Given the description of an element on the screen output the (x, y) to click on. 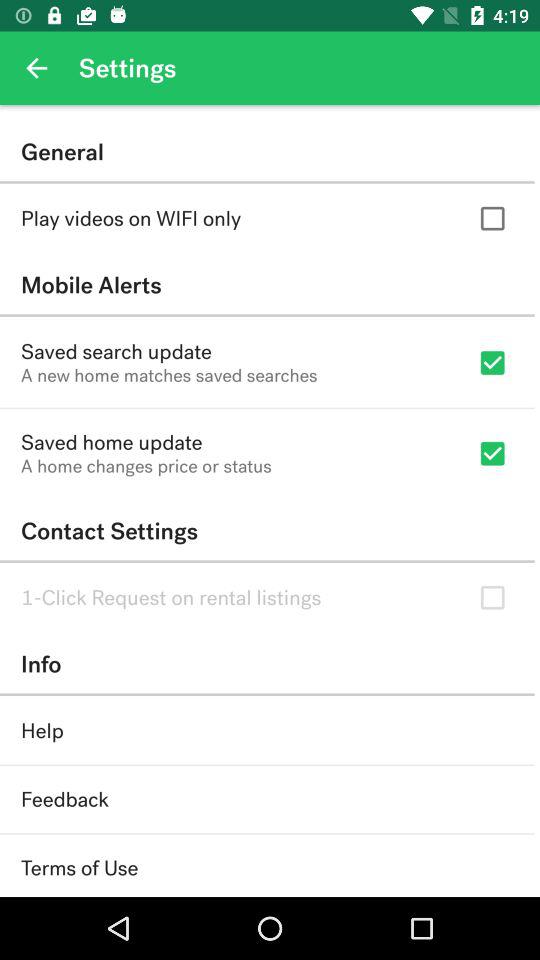
open feedback (64, 799)
